Given the description of an element on the screen output the (x, y) to click on. 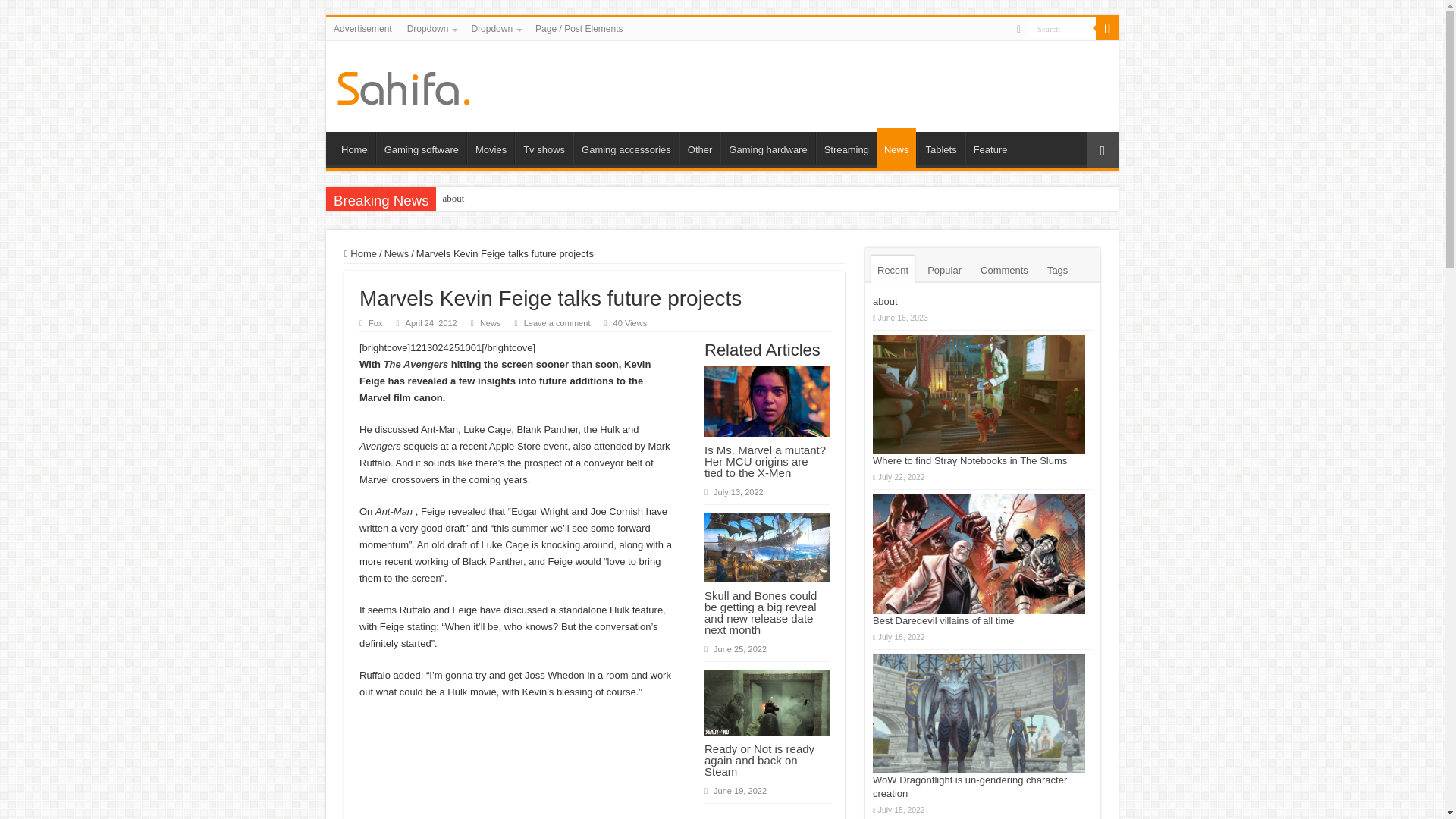
Advertisement (362, 28)
about (452, 198)
Search (1061, 28)
Movies (490, 147)
Streaming (845, 147)
Tv shows (543, 147)
Gaming software (420, 147)
Search (1061, 28)
Game News (403, 85)
Home (354, 147)
